Given the description of an element on the screen output the (x, y) to click on. 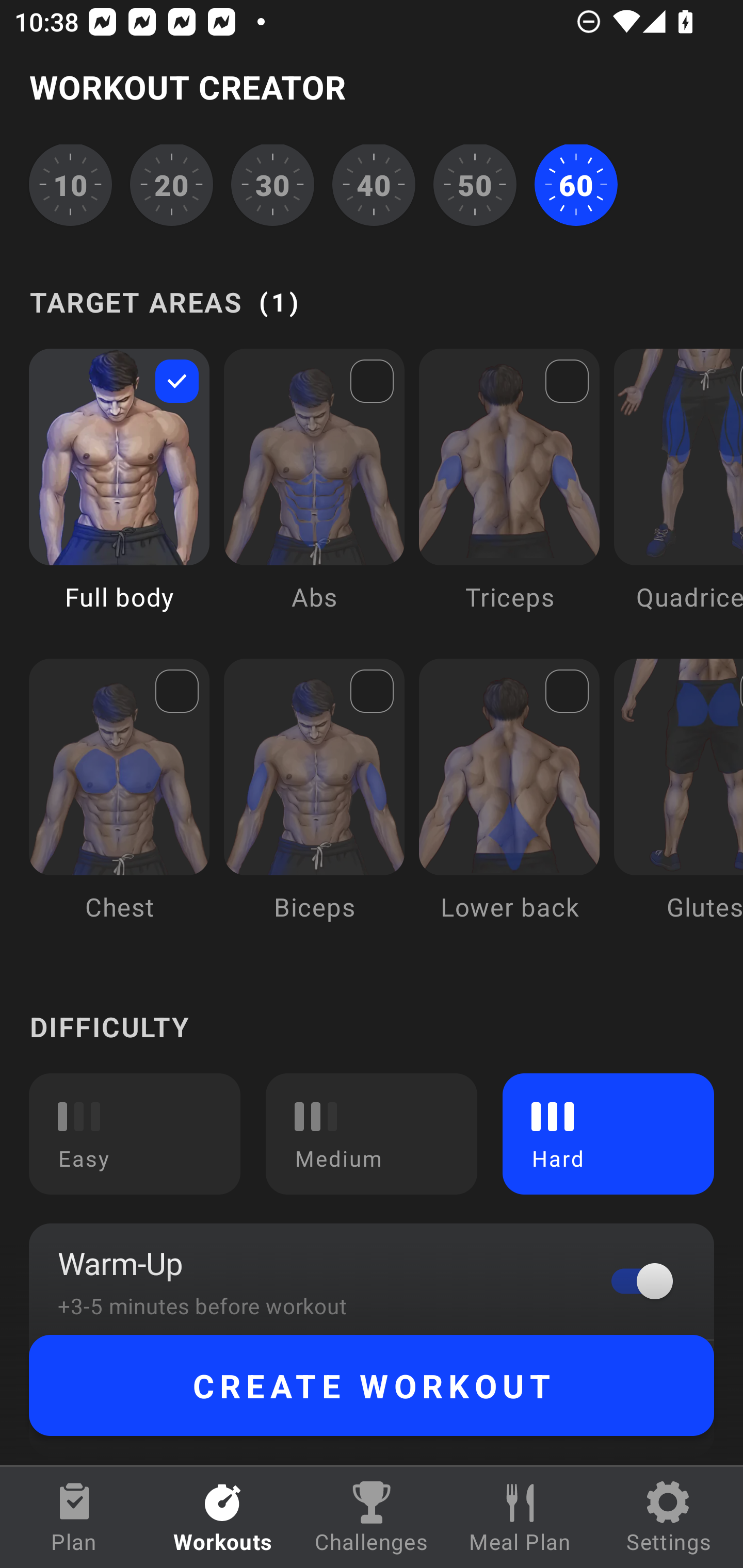
10 (70, 185)
20 (171, 185)
30 (272, 185)
40 (373, 185)
50 (474, 185)
60 (575, 185)
Abs (313, 494)
Triceps (509, 494)
Quadriceps (678, 494)
Chest (118, 804)
Biceps (313, 804)
Lower back (509, 804)
Glutes (678, 804)
Easy (134, 1134)
Medium (371, 1134)
CREATE WORKOUT (371, 1385)
 Plan  (74, 1517)
 Challenges  (371, 1517)
 Meal Plan  (519, 1517)
 Settings  (668, 1517)
